Given the description of an element on the screen output the (x, y) to click on. 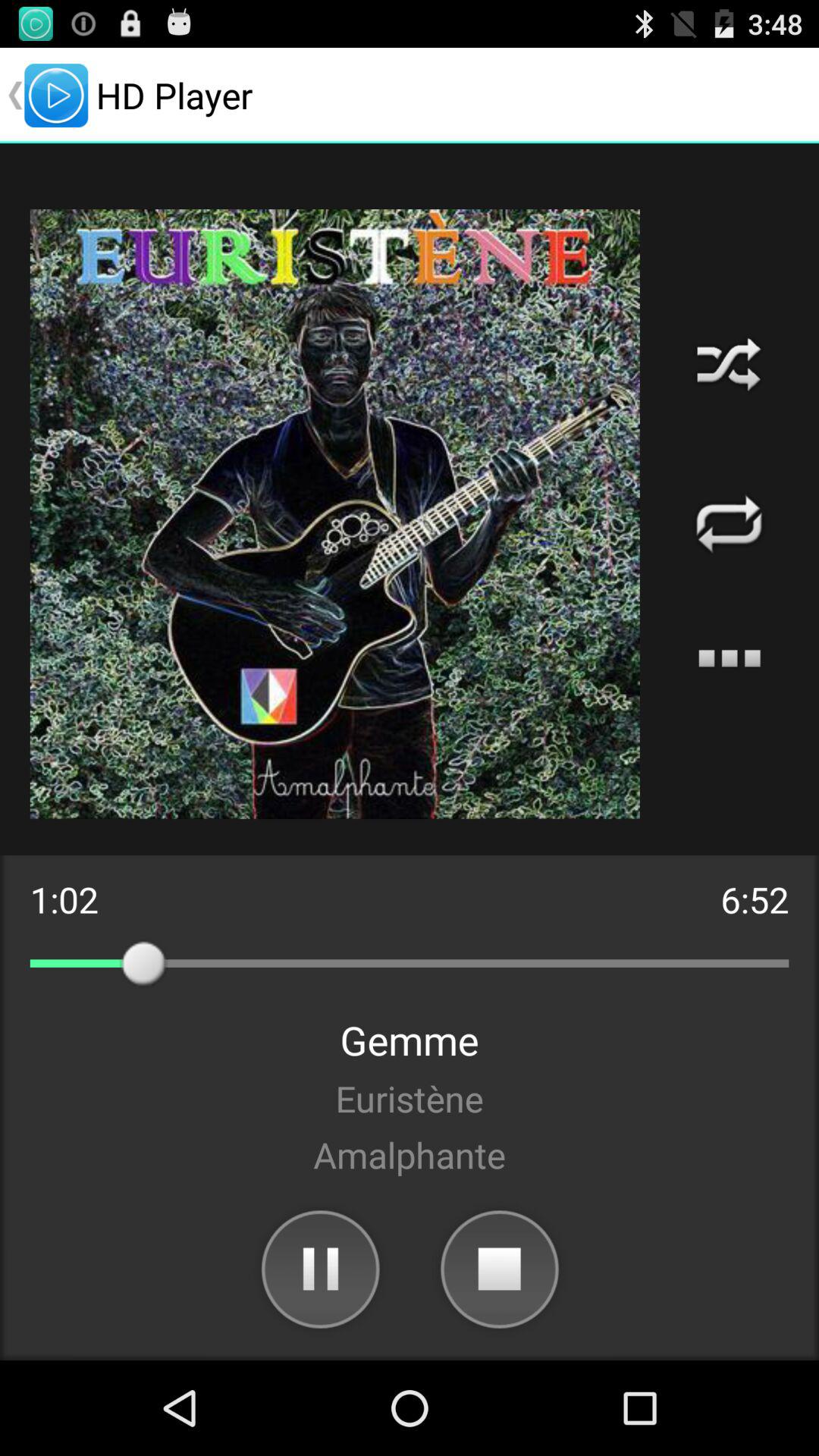
open the item below the amalphante item (498, 1268)
